Given the description of an element on the screen output the (x, y) to click on. 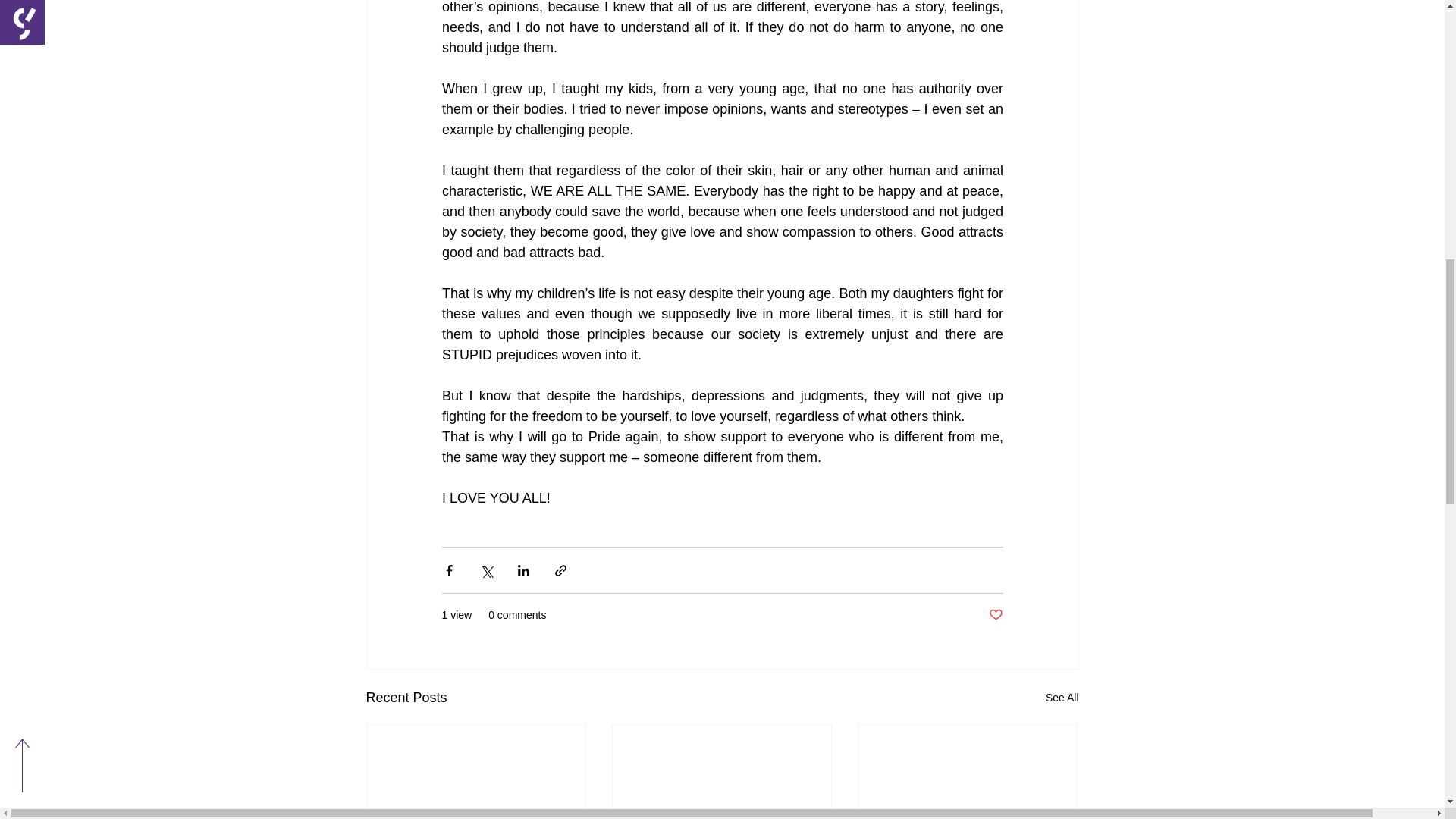
Post not marked as liked (995, 615)
See All (1061, 698)
